Given the description of an element on the screen output the (x, y) to click on. 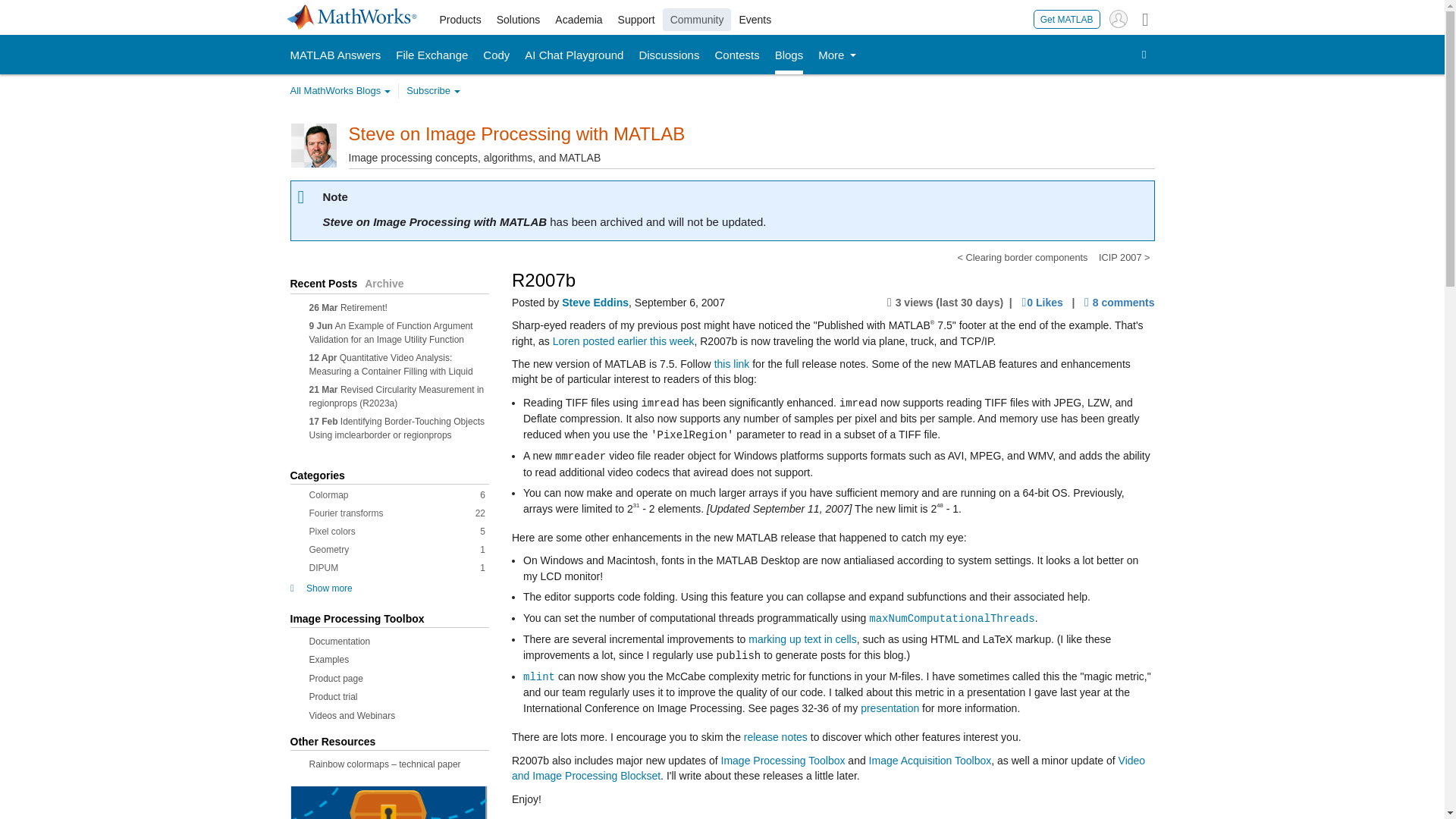
Matrix Menu (1144, 18)
Community (697, 19)
Look Retirement! (363, 307)
Events (754, 19)
Solutions (518, 19)
Steve on Image Processing with MATLAB (517, 133)
Support (636, 19)
Get MATLAB (1066, 18)
Academia (578, 19)
Products (460, 19)
